Given the description of an element on the screen output the (x, y) to click on. 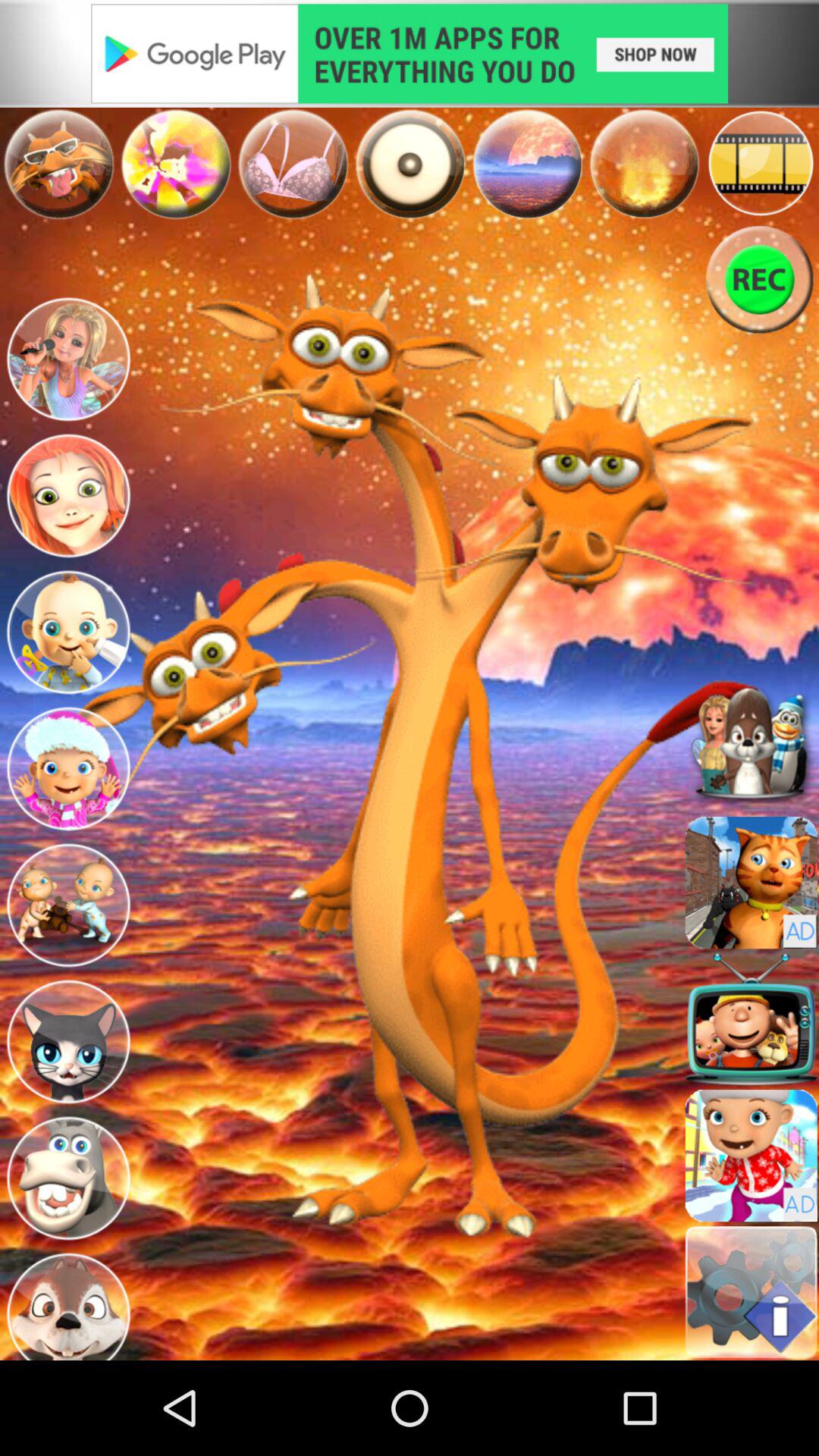
select the character (68, 1178)
